Given the description of an element on the screen output the (x, y) to click on. 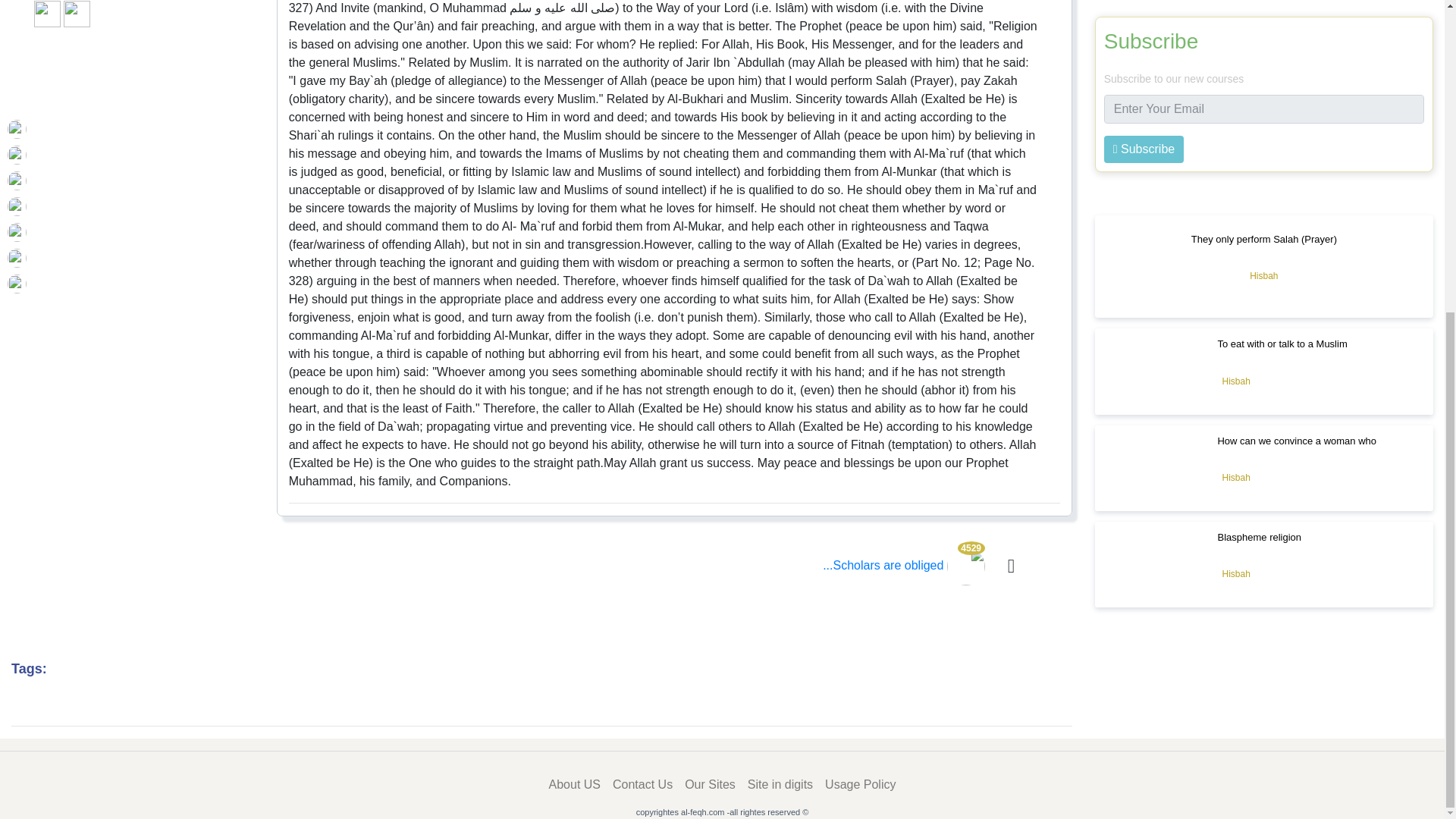
Scholars are obliged to enjoin good and forbid evil (903, 564)
